Given the description of an element on the screen output the (x, y) to click on. 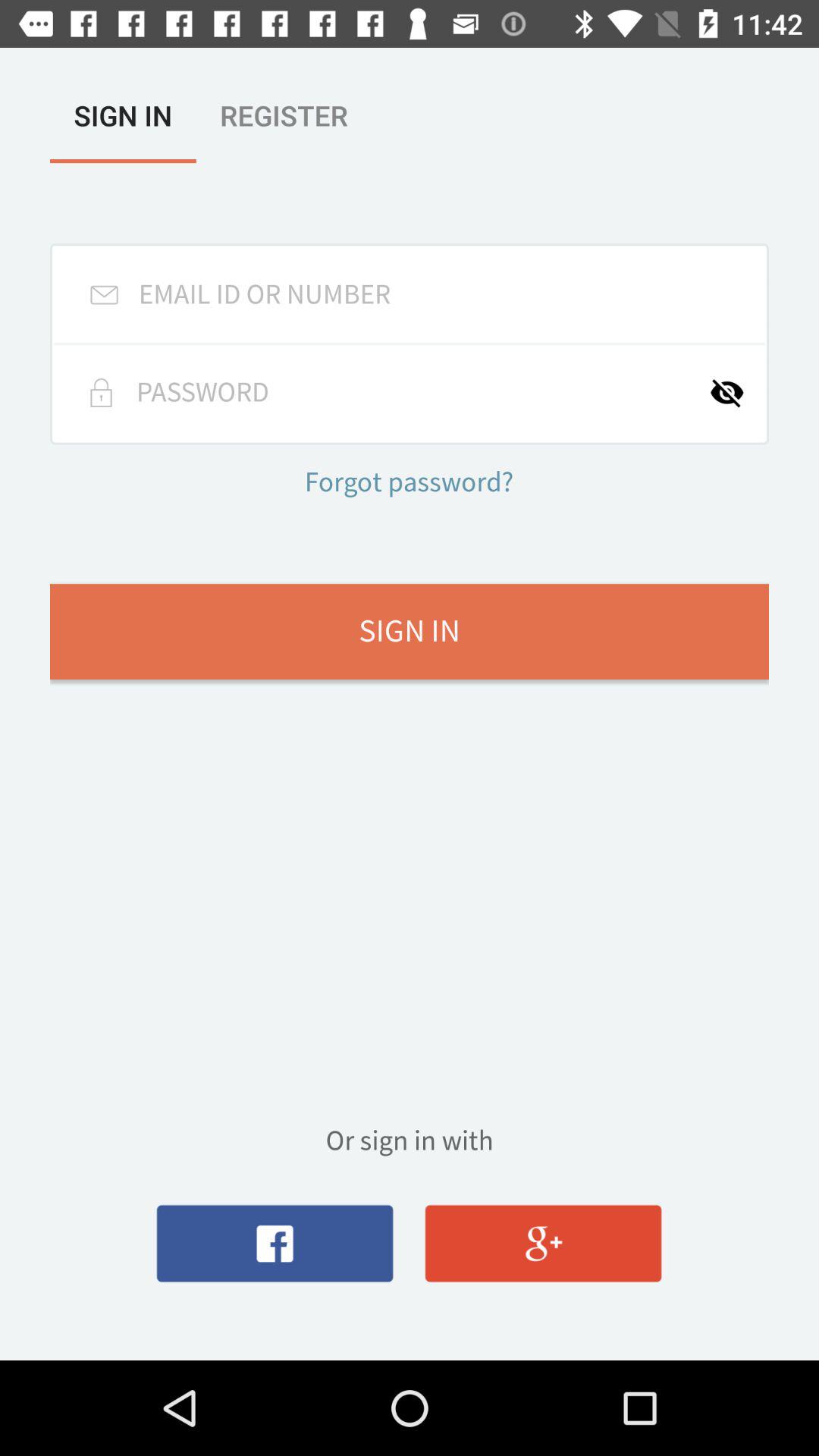
flip until the forgot password? icon (408, 484)
